Given the description of an element on the screen output the (x, y) to click on. 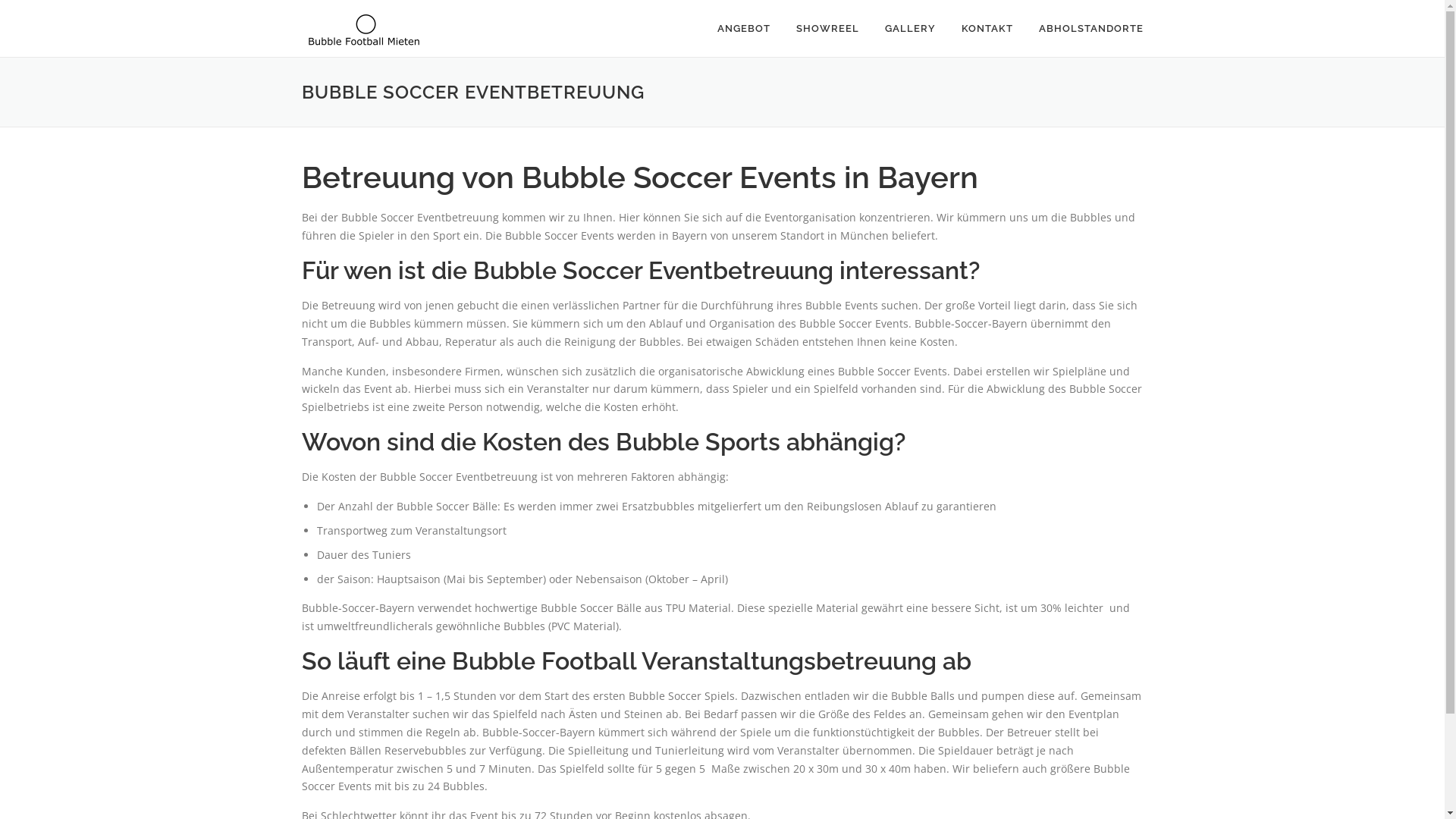
SHOWREEL Element type: text (826, 28)
Direkt zum Inhalt Element type: text (43, 9)
ANGEBOT Element type: text (742, 28)
GALLERY Element type: text (910, 28)
ABHOLSTANDORTE Element type: text (1083, 28)
KONTAKT Element type: text (986, 28)
